Given the description of an element on the screen output the (x, y) to click on. 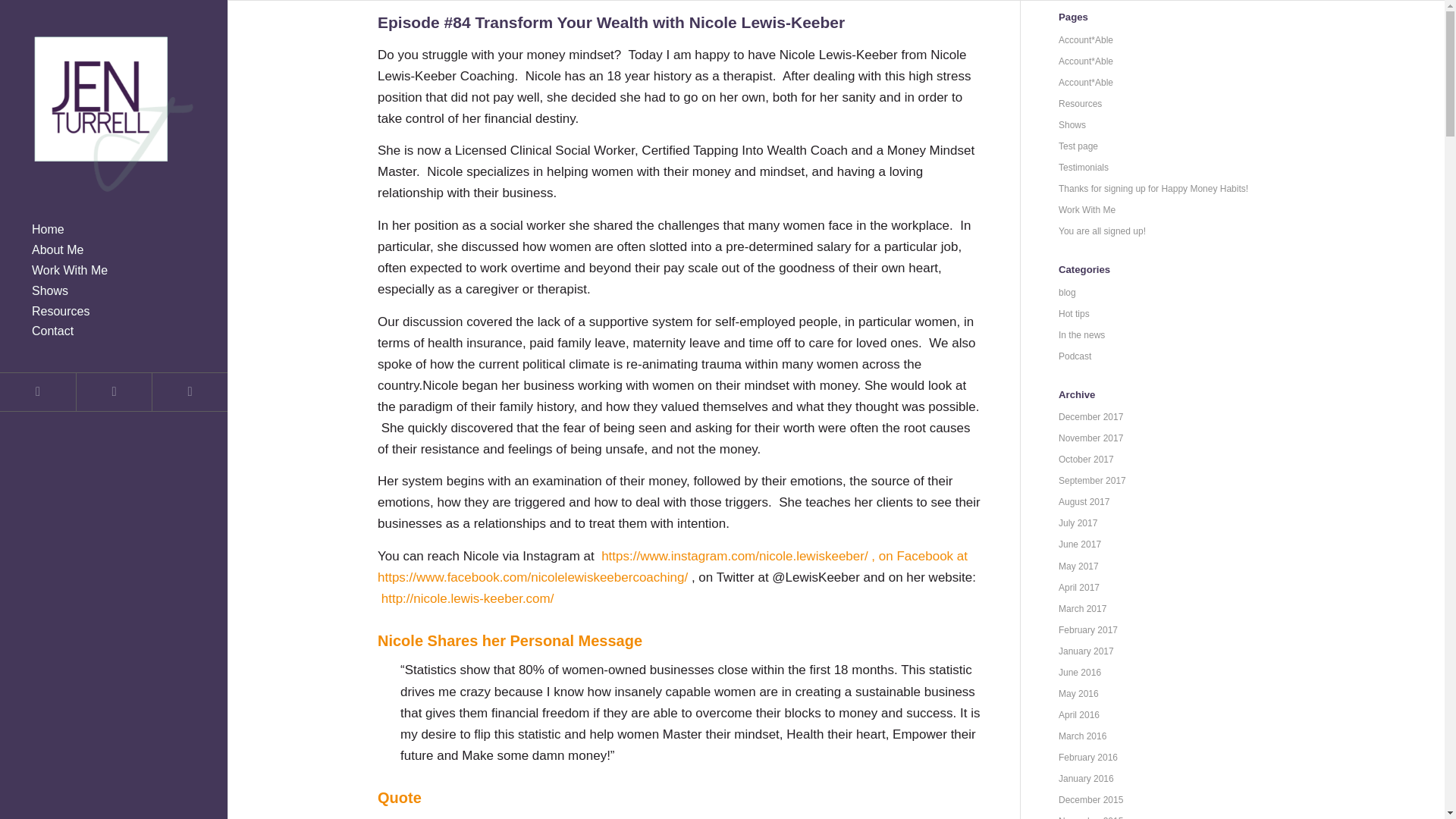
Home (113, 230)
Shows (113, 291)
Shows (113, 291)
About Me (113, 250)
Home (113, 230)
Twitter (37, 392)
Resources (113, 312)
Work With Me (113, 271)
Work With Me (113, 271)
Contact (113, 331)
